Given the description of an element on the screen output the (x, y) to click on. 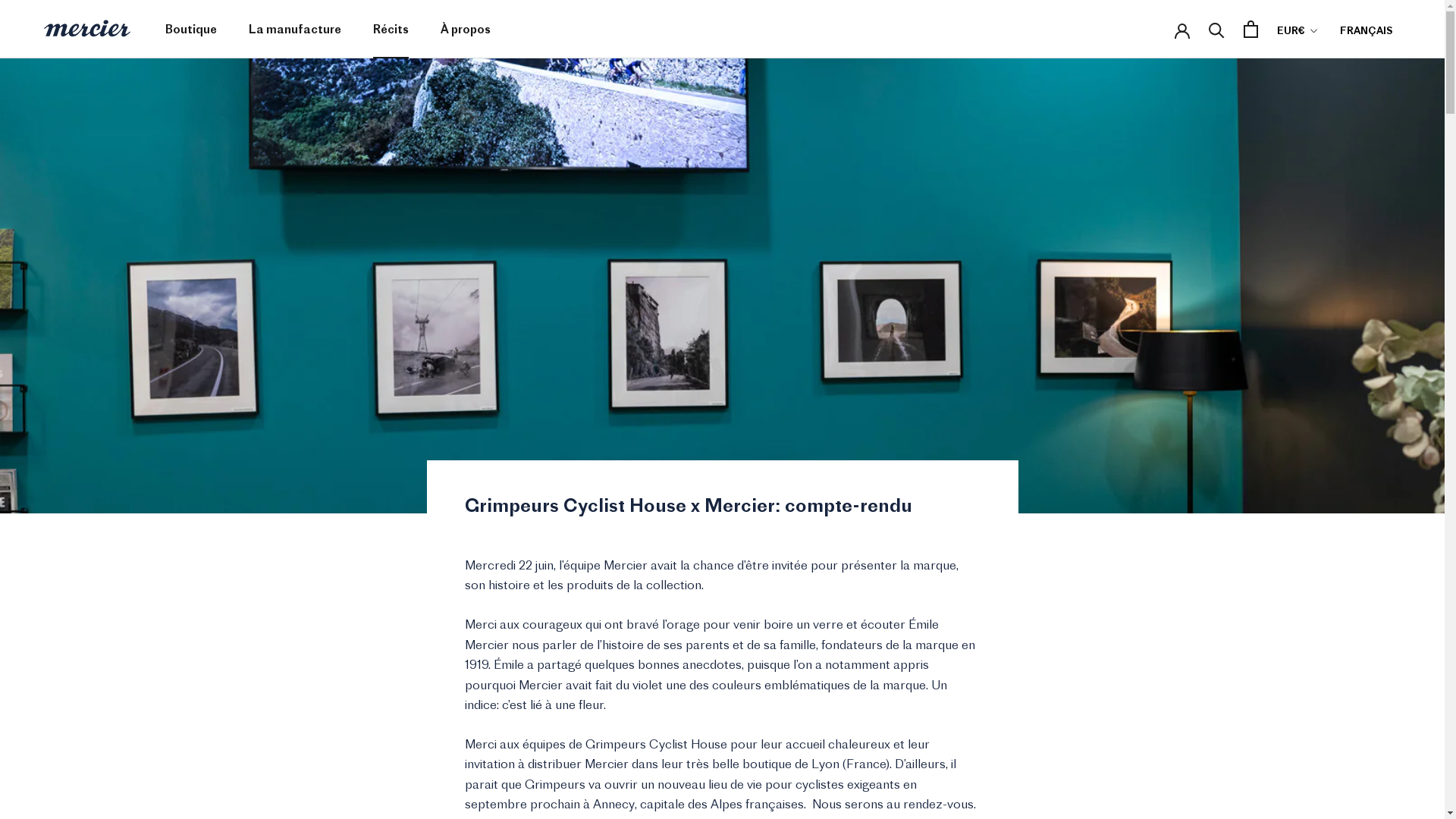
CVE Element type: text (1323, 471)
ALL Element type: text (1323, 89)
CDF Element type: text (1323, 375)
ANG Element type: text (1323, 113)
GMD Element type: text (1323, 756)
AED Element type: text (1323, 65)
GTQ Element type: text (1323, 804)
GBP Element type: text (1323, 733)
BSD Element type: text (1323, 327)
BAM Element type: text (1323, 185)
CRC Element type: text (1323, 446)
BBD Element type: text (1323, 208)
AUD Element type: text (1323, 137)
CZK Element type: text (1323, 494)
FJD Element type: text (1323, 685)
en Element type: text (1390, 89)
BGN Element type: text (1323, 232)
CHF Element type: text (1323, 399)
CAD Element type: text (1323, 352)
fr Element type: text (1390, 65)
La manufacture Element type: text (294, 28)
DOP Element type: text (1323, 566)
ETB Element type: text (1323, 637)
DZD Element type: text (1323, 590)
DKK Element type: text (1323, 542)
FKP Element type: text (1323, 709)
BOB Element type: text (1323, 304)
AWG Element type: text (1323, 160)
BND Element type: text (1323, 279)
Boutique Element type: text (190, 28)
EUR Element type: text (1323, 661)
DJF Element type: text (1323, 518)
EGP Element type: text (1323, 613)
BIF Element type: text (1323, 256)
CNY Element type: text (1323, 423)
GNF Element type: text (1323, 781)
